Given the description of an element on the screen output the (x, y) to click on. 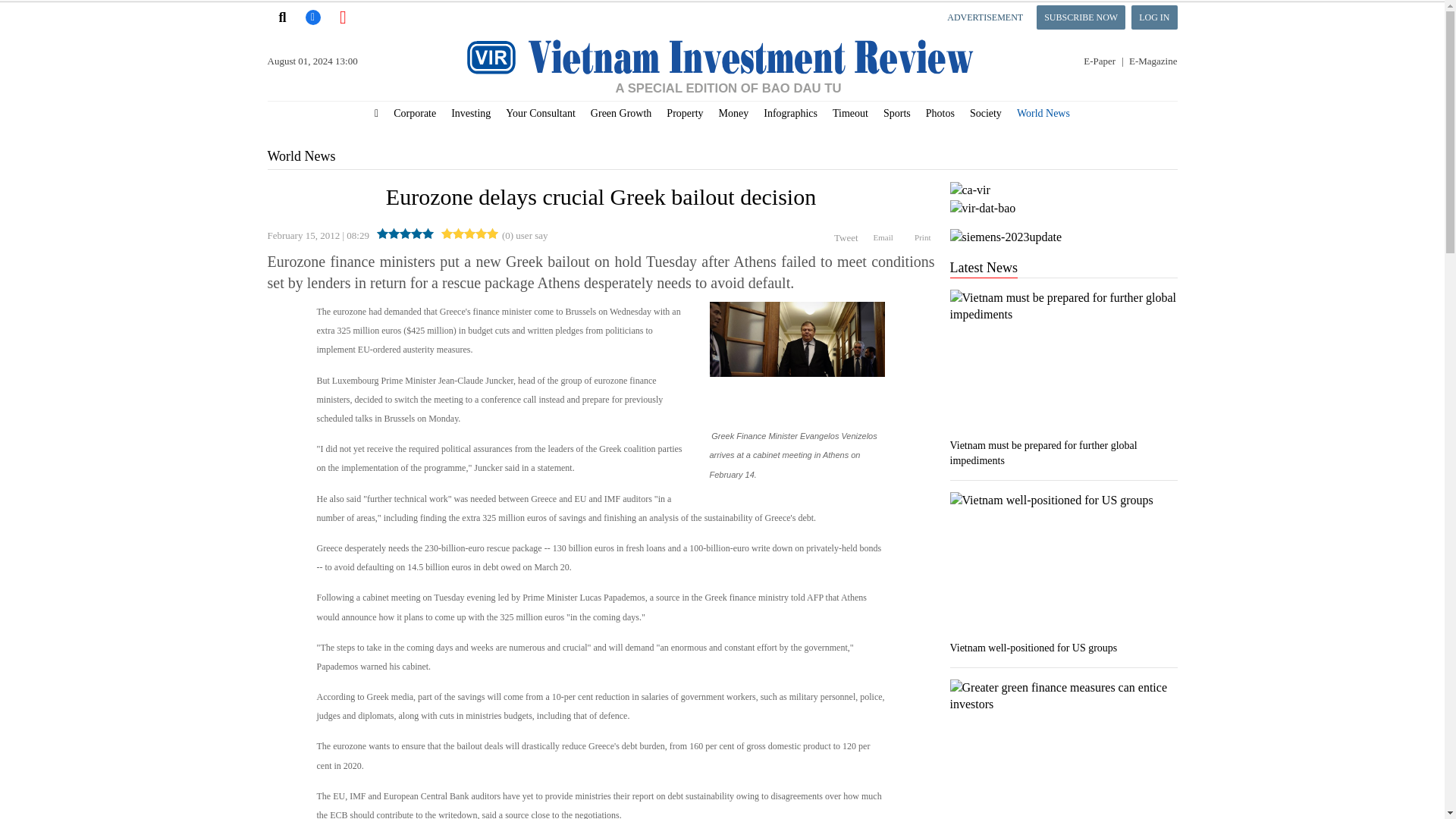
Investing (470, 113)
LOG IN (1153, 16)
World News (300, 155)
SUBSCRIBE NOW (1080, 16)
Green Growth (621, 113)
E-Paper (1102, 60)
Money (734, 113)
Property (684, 113)
E-Magazine (1153, 60)
Timeout (850, 113)
